Given the description of an element on the screen output the (x, y) to click on. 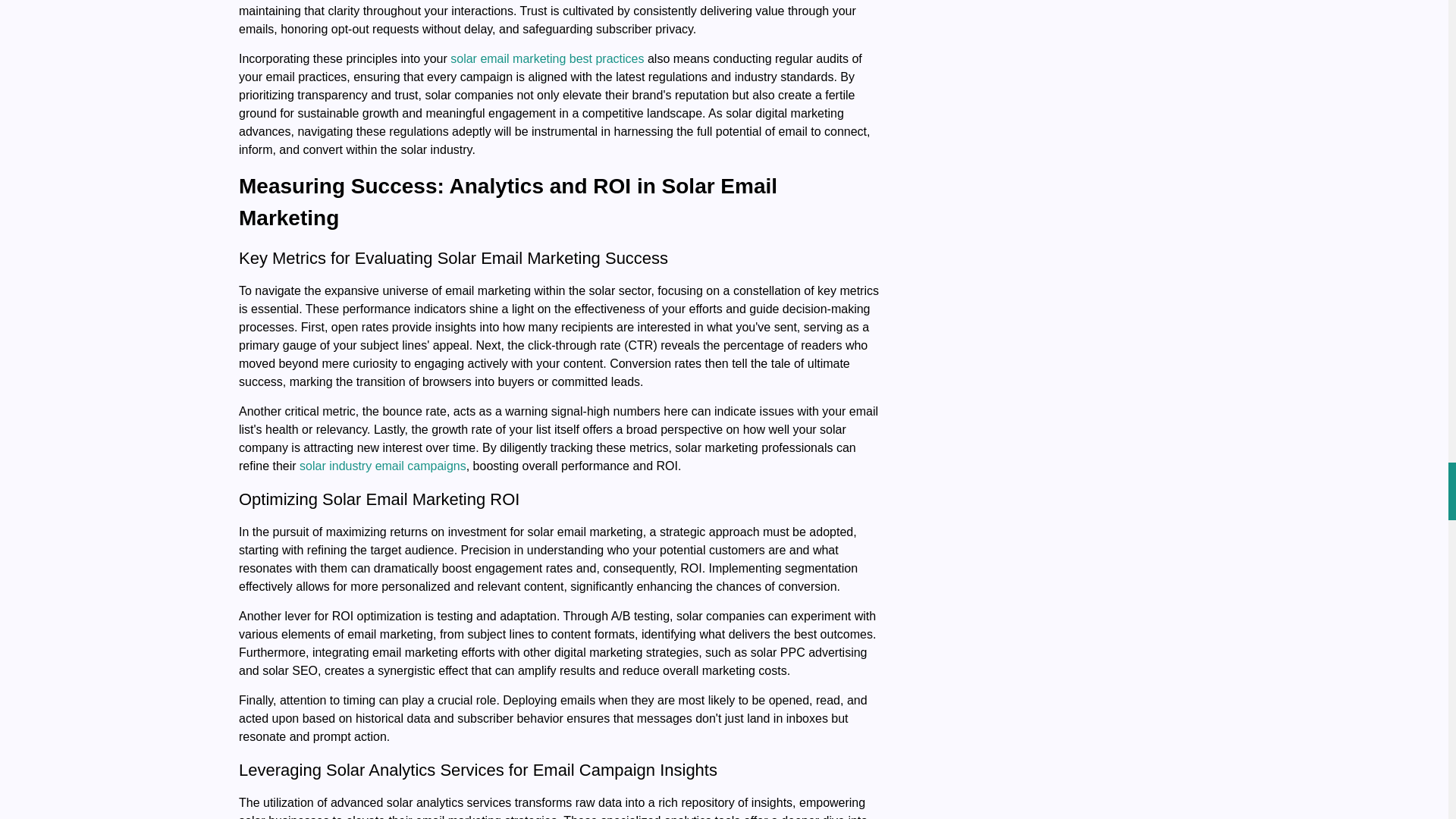
solar industry email campaigns (382, 465)
solar email marketing best practices (546, 58)
